Given the description of an element on the screen output the (x, y) to click on. 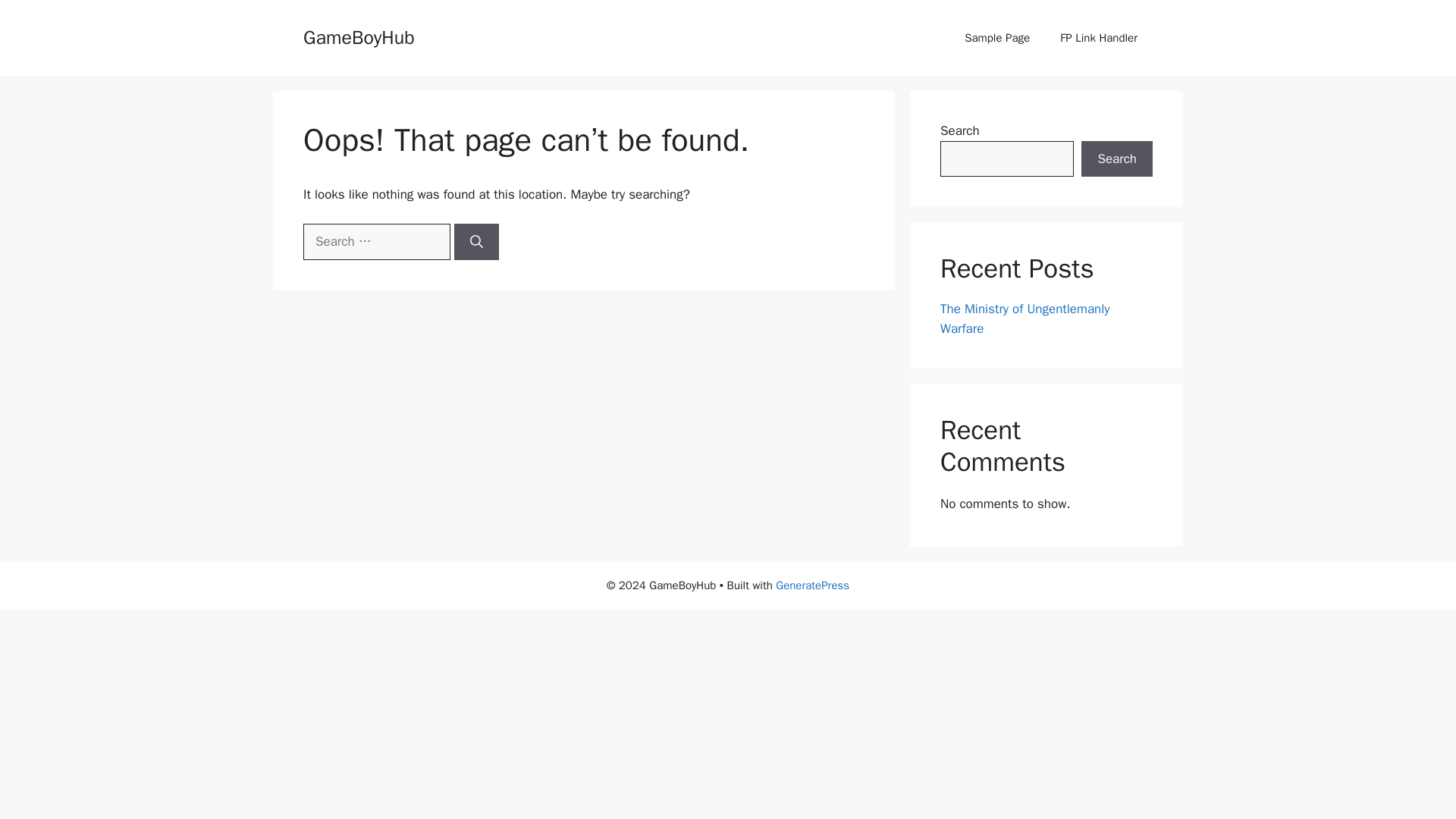
GameBoyHub (358, 37)
Search (1117, 158)
GeneratePress (812, 585)
Sample Page (997, 37)
FP Link Handler (1099, 37)
Search for: (375, 241)
The Ministry of Ungentlemanly Warfare (1024, 318)
